Given the description of an element on the screen output the (x, y) to click on. 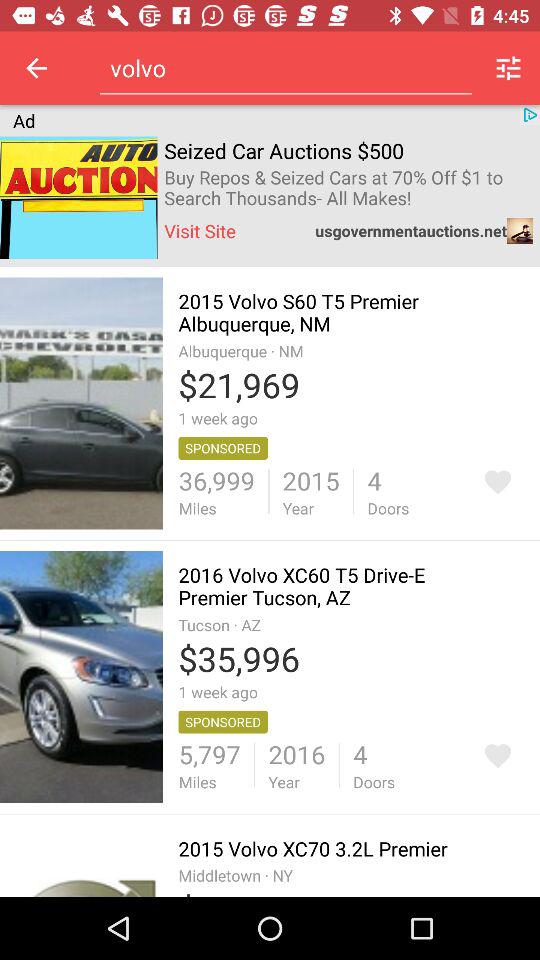
add to favorites (497, 482)
